Given the description of an element on the screen output the (x, y) to click on. 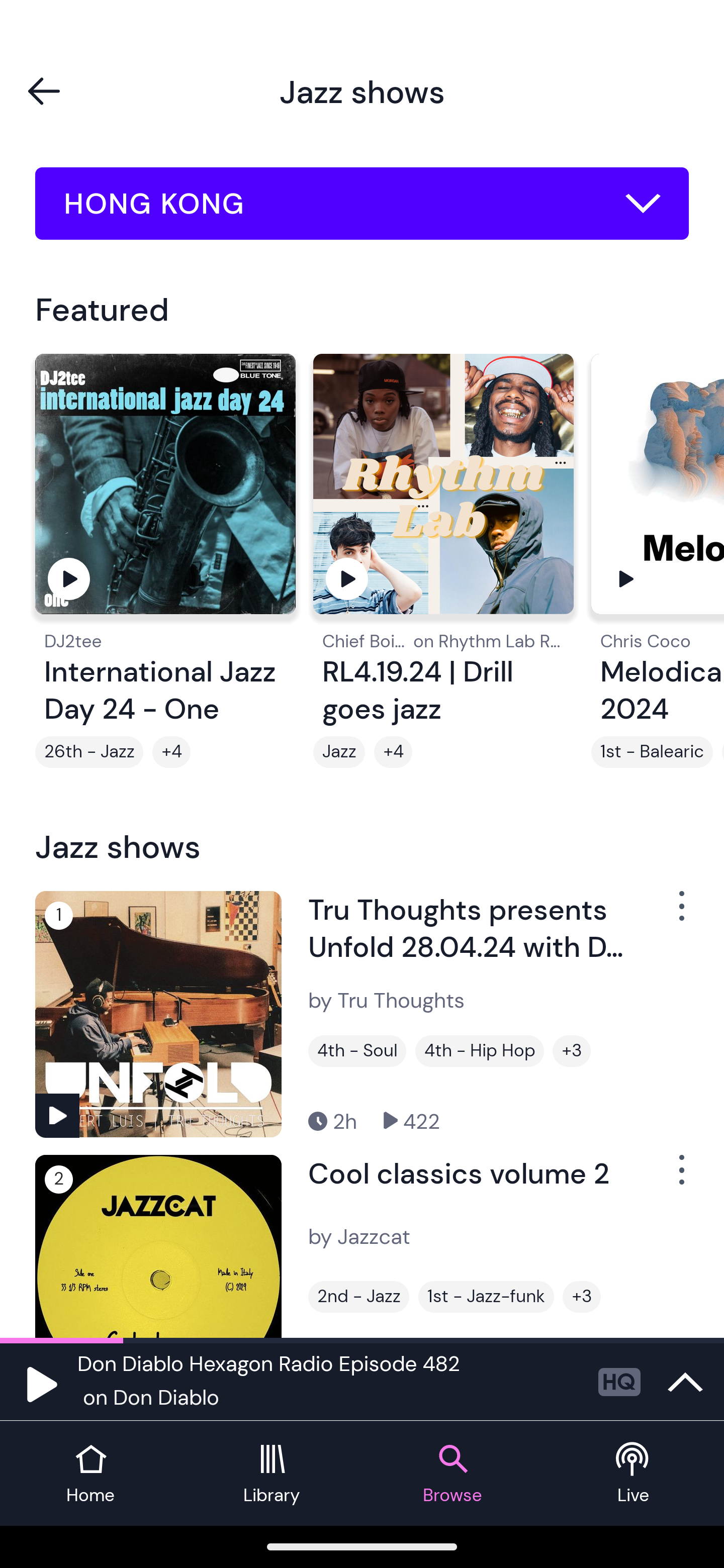
HONG KONG (361, 203)
26th - Jazz (89, 752)
Jazz (338, 752)
1st - Balearic (652, 752)
Show Options Menu Button (679, 913)
4th - Soul (357, 1050)
4th - Hip Hop (479, 1050)
Show Options Menu Button (679, 1178)
2nd - Jazz (358, 1296)
1st - Jazz-funk (485, 1296)
Home tab Home (90, 1473)
Library tab Library (271, 1473)
Browse tab Browse (452, 1473)
Live tab Live (633, 1473)
